Given the description of an element on the screen output the (x, y) to click on. 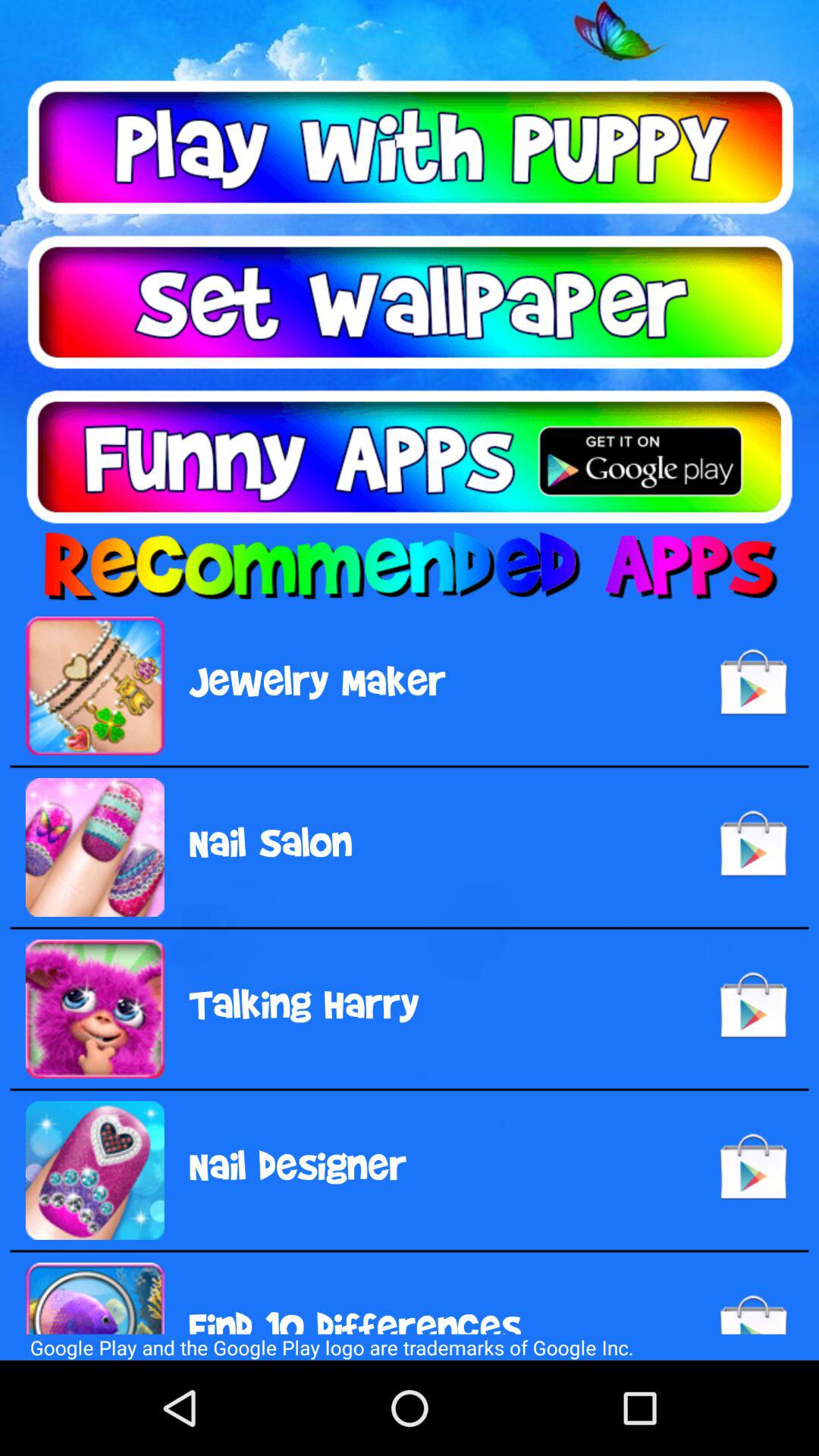
selects option in game (409, 146)
